Given the description of an element on the screen output the (x, y) to click on. 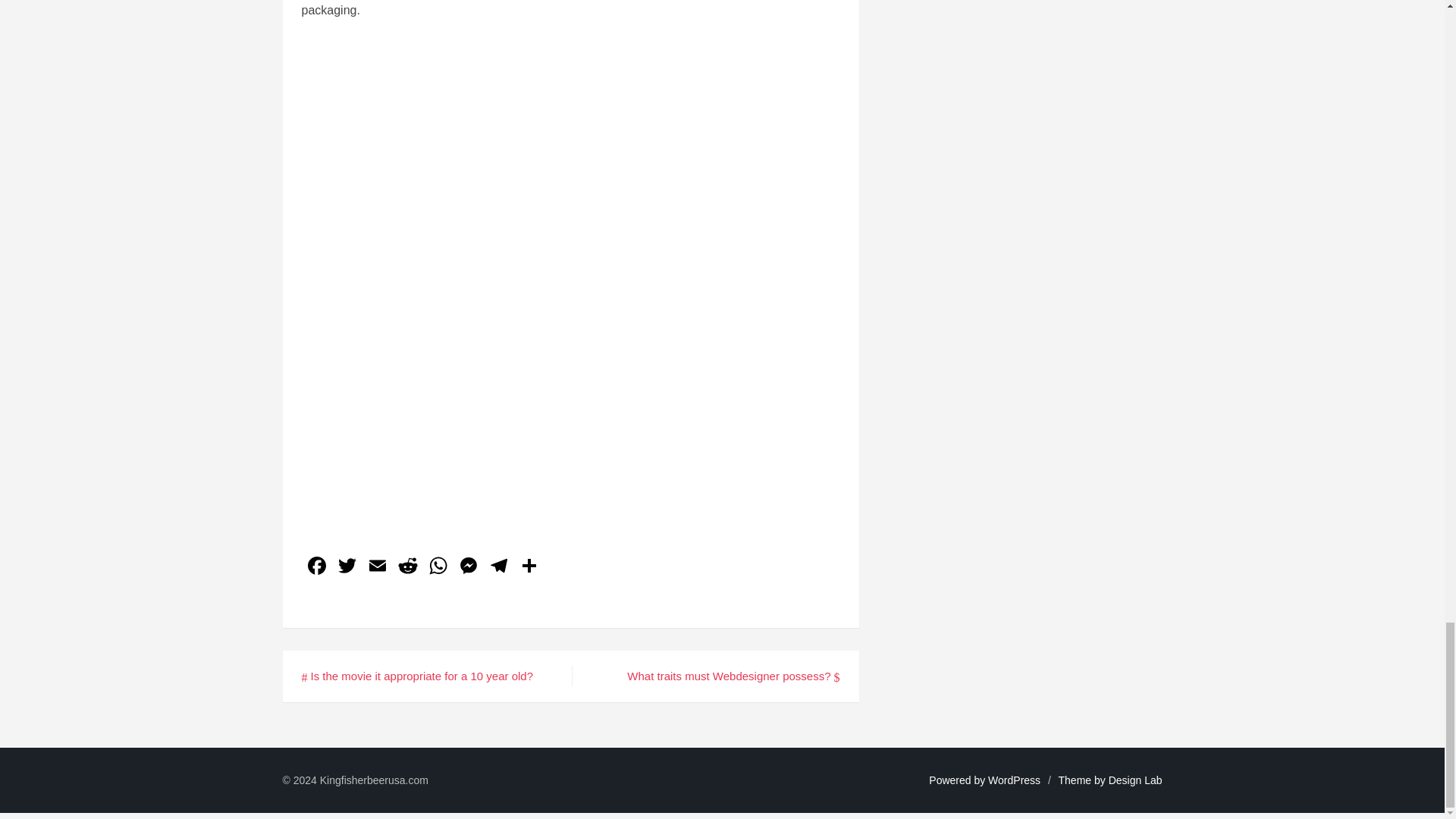
Reddit (408, 567)
Telegram (498, 567)
Messenger (467, 567)
Reddit (408, 567)
WhatsApp (437, 567)
Facebook (316, 567)
Email (377, 567)
Telegram (498, 567)
Messenger (467, 567)
Twitter (346, 567)
